Given the description of an element on the screen output the (x, y) to click on. 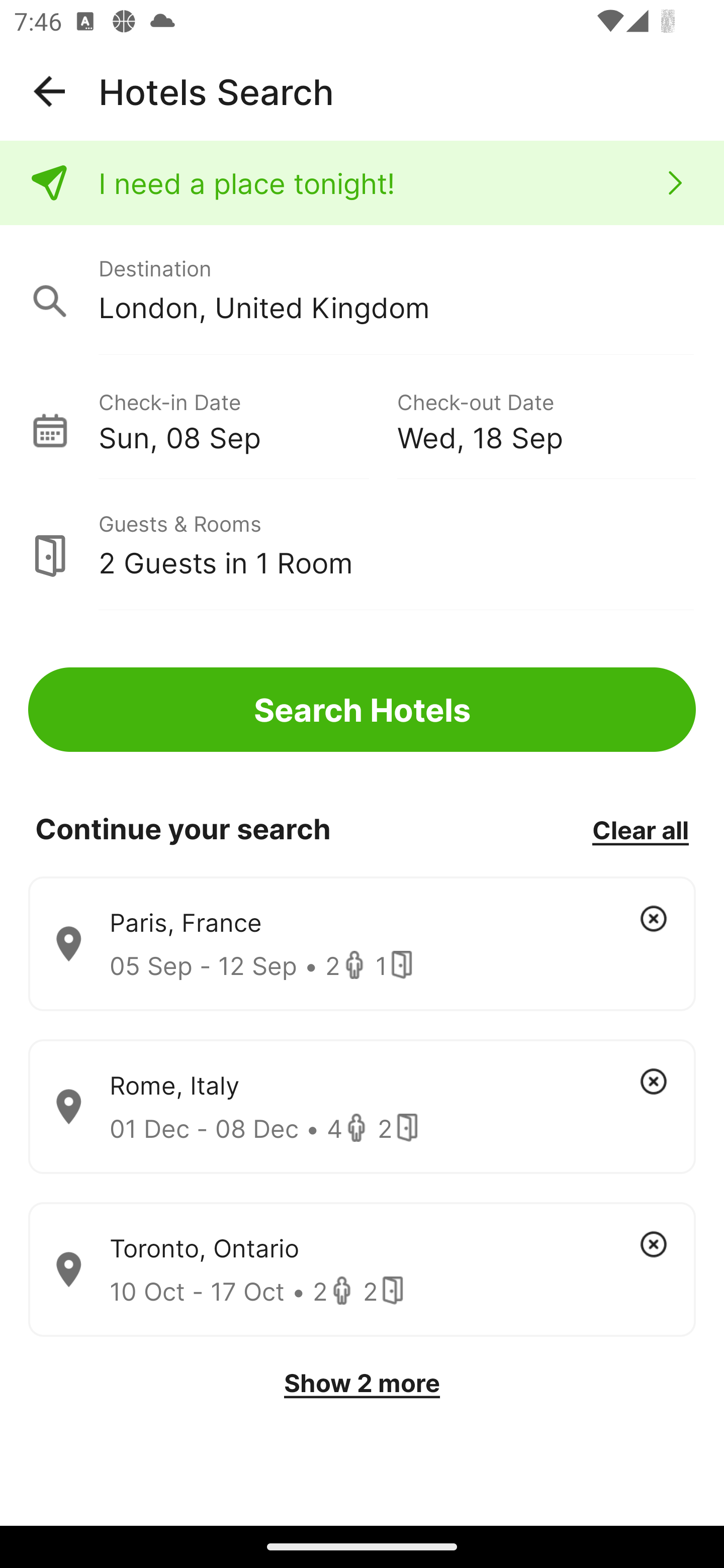
I need a place tonight! (362, 183)
Destination London, United Kingdom (362, 290)
Check-in Date Sun, 08 Sep (247, 418)
Check-out Date Wed, 18 Sep (546, 418)
Guests & Rooms 2 Guests in 1 Room (362, 545)
Search Hotels (361, 709)
Clear all (640, 829)
Paris, France 05 Sep - 12 Sep • 2  1  (361, 943)
Rome, Italy 01 Dec - 08 Dec • 4  2  (361, 1106)
Toronto, Ontario 10 Oct - 17 Oct • 2  2  (361, 1269)
Show 2 more (362, 1382)
